Given the description of an element on the screen output the (x, y) to click on. 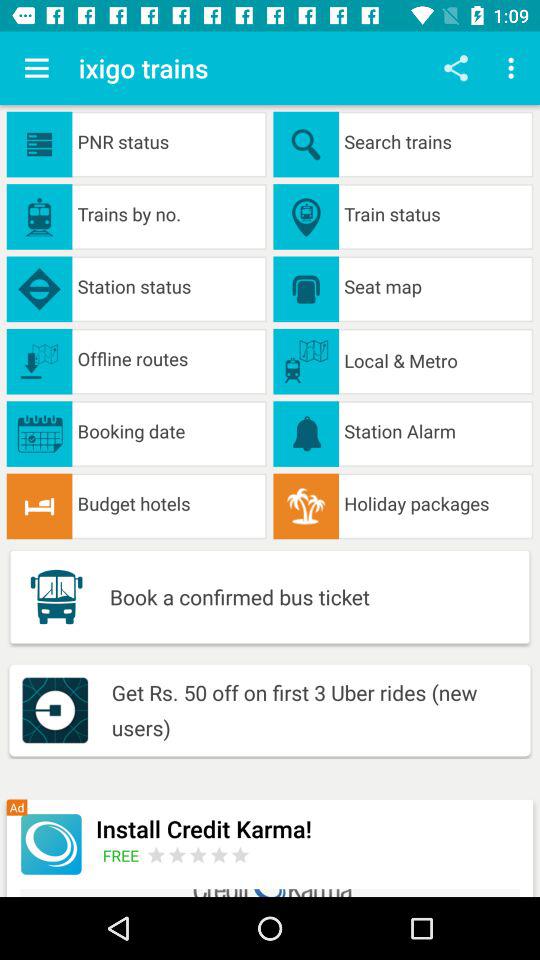
launch icon below get rs 50 icon (308, 828)
